Given the description of an element on the screen output the (x, y) to click on. 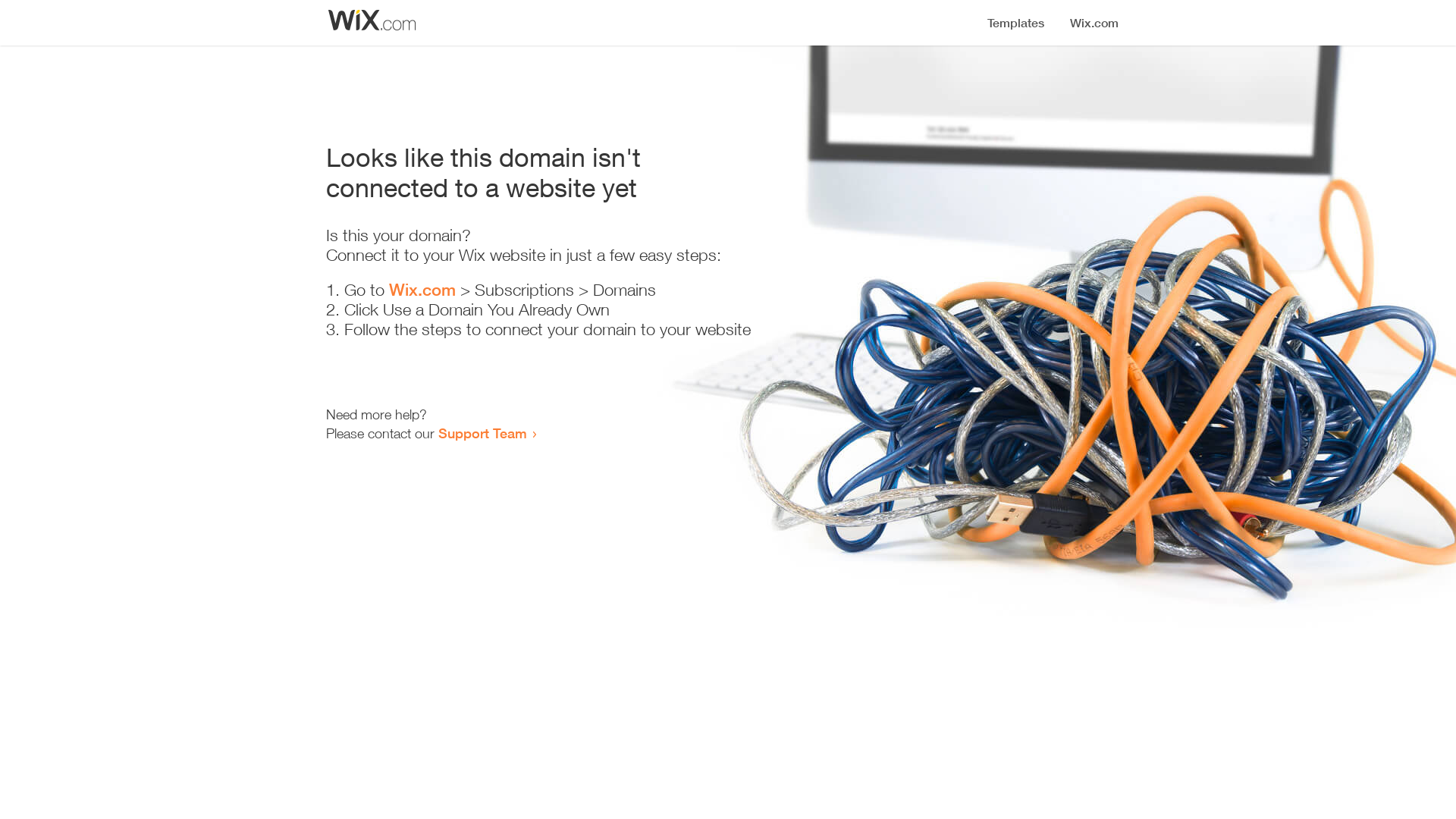
Wix.com Element type: text (422, 289)
Support Team Element type: text (482, 432)
